Given the description of an element on the screen output the (x, y) to click on. 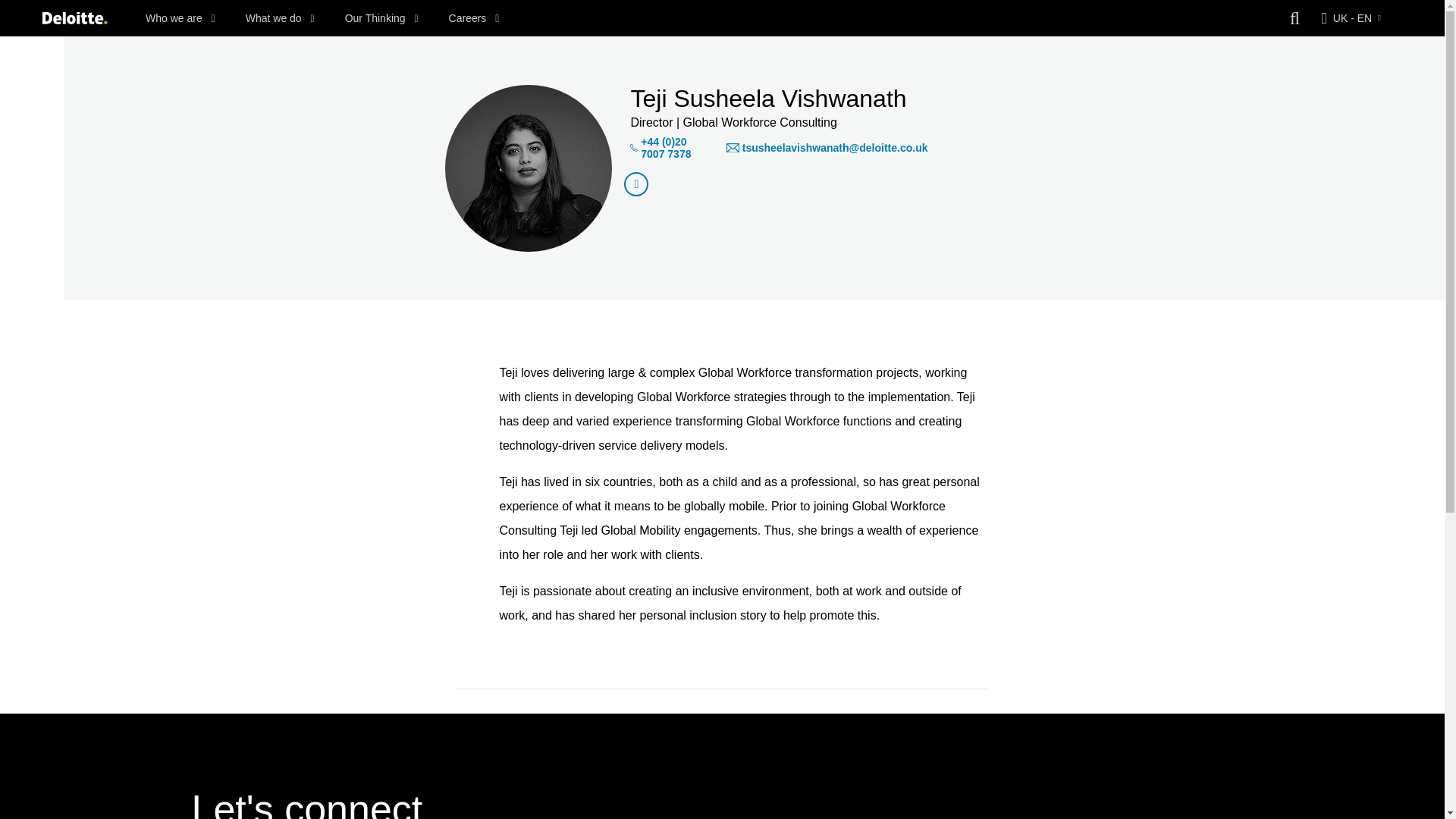
Our Thinking (382, 18)
connect via linkedin (635, 183)
Careers (473, 18)
Deloitte (74, 18)
What we do (280, 18)
Who we are (180, 18)
